Given the description of an element on the screen output the (x, y) to click on. 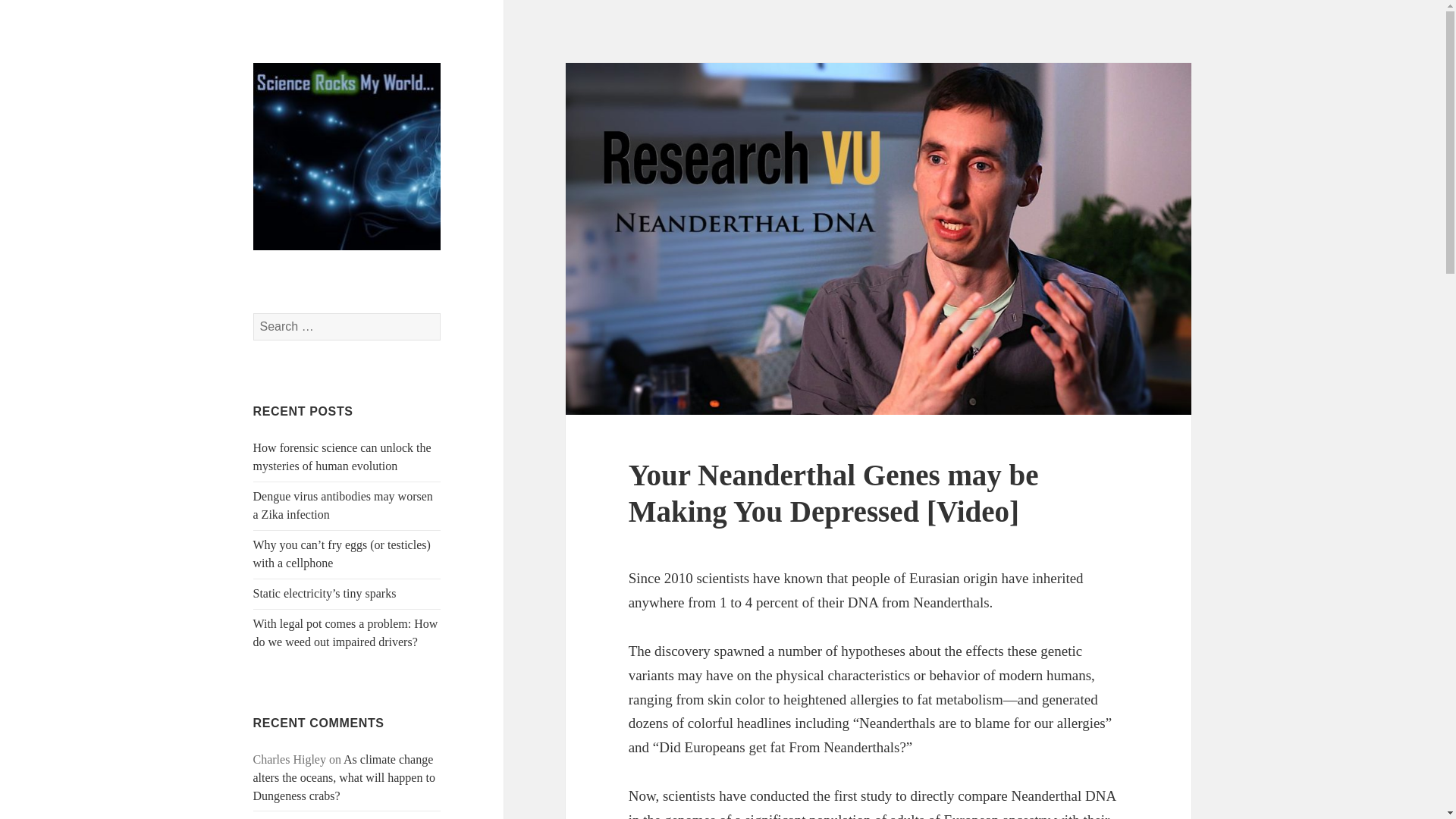
Dengue virus antibodies may worsen a Zika infection (342, 504)
Science Rocks My World (342, 286)
